Given the description of an element on the screen output the (x, y) to click on. 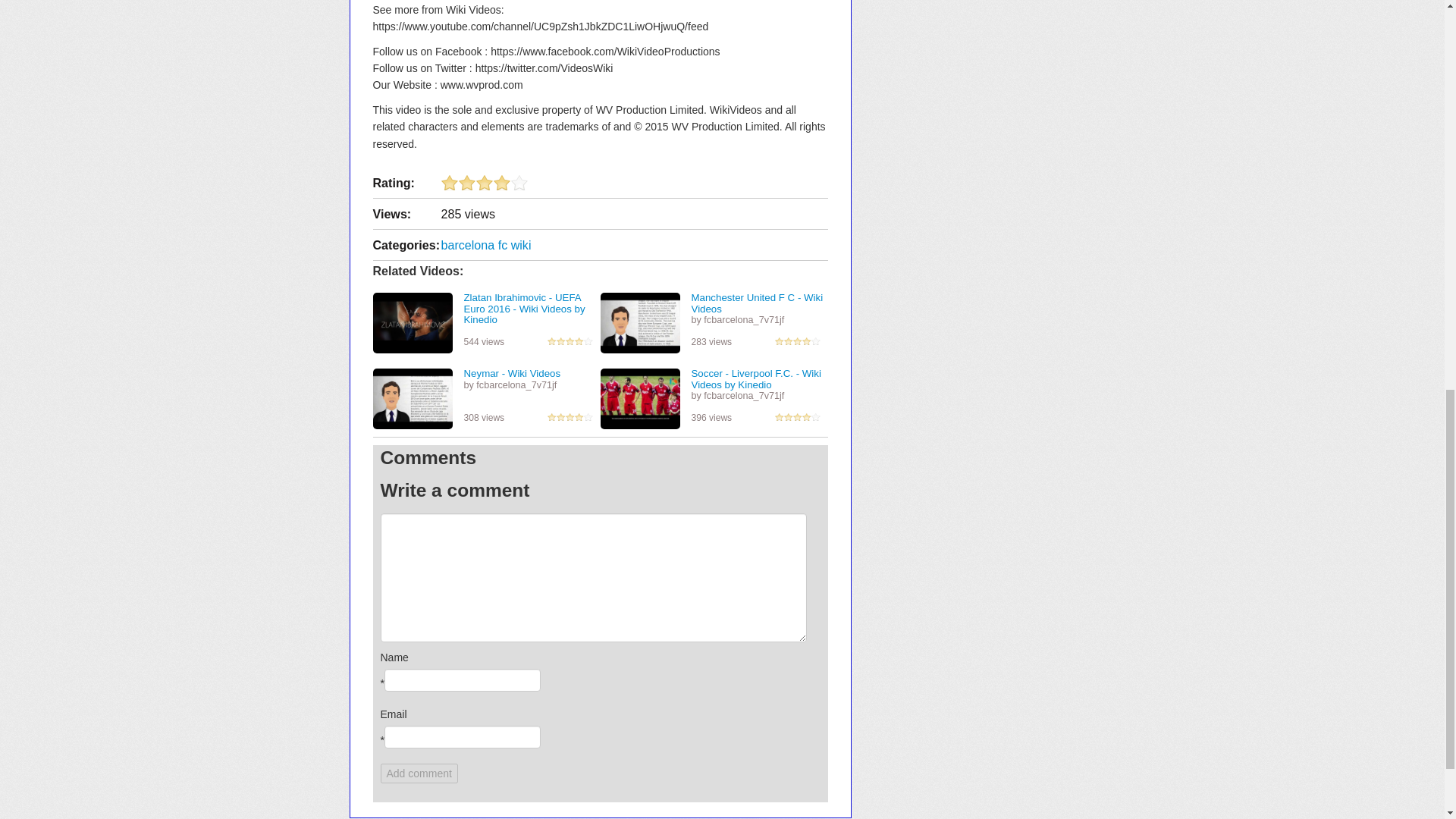
Add comment (419, 772)
